Given the description of an element on the screen output the (x, y) to click on. 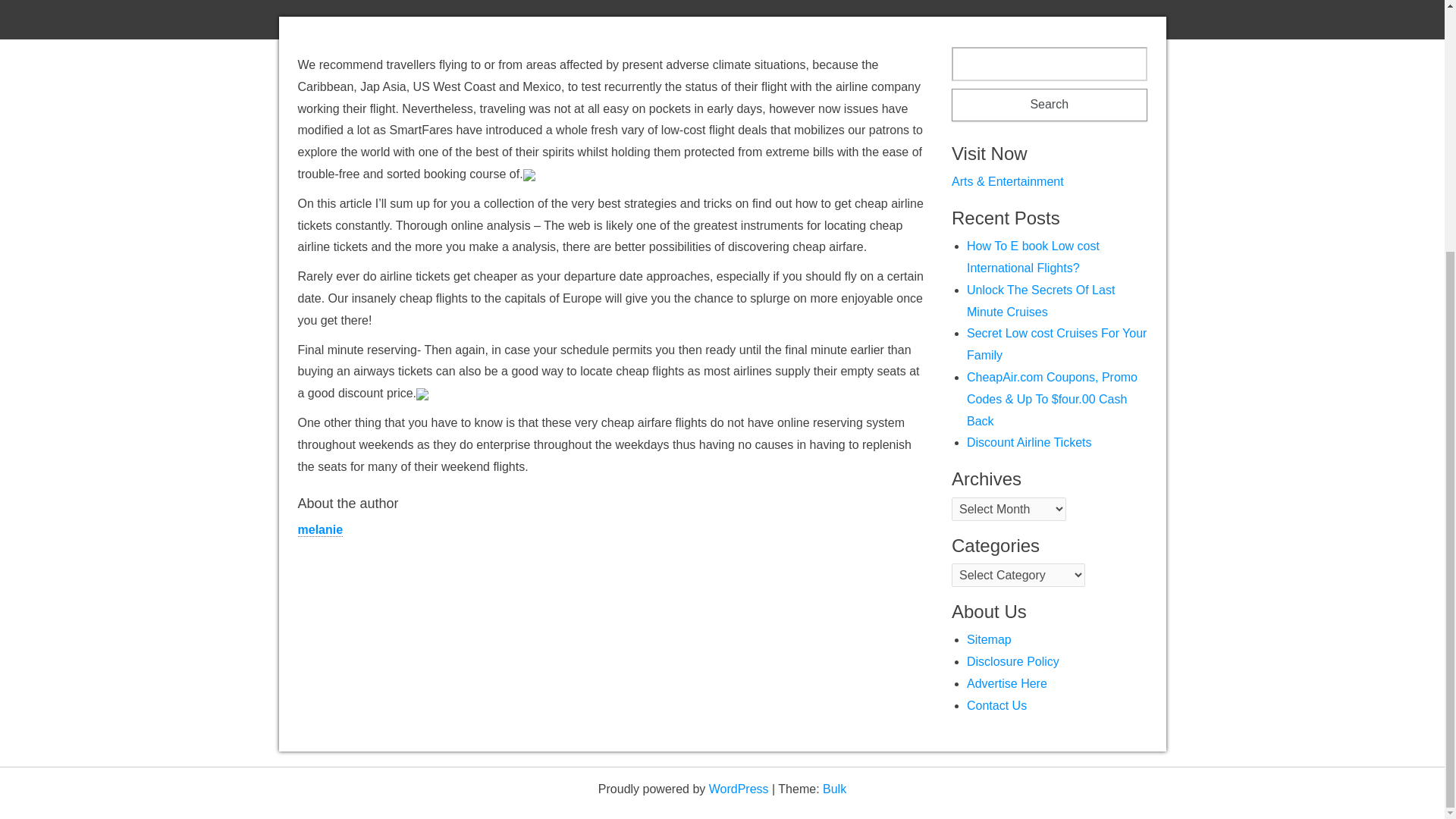
Search (1049, 104)
melanie (319, 530)
Search (1049, 104)
